Given the description of an element on the screen output the (x, y) to click on. 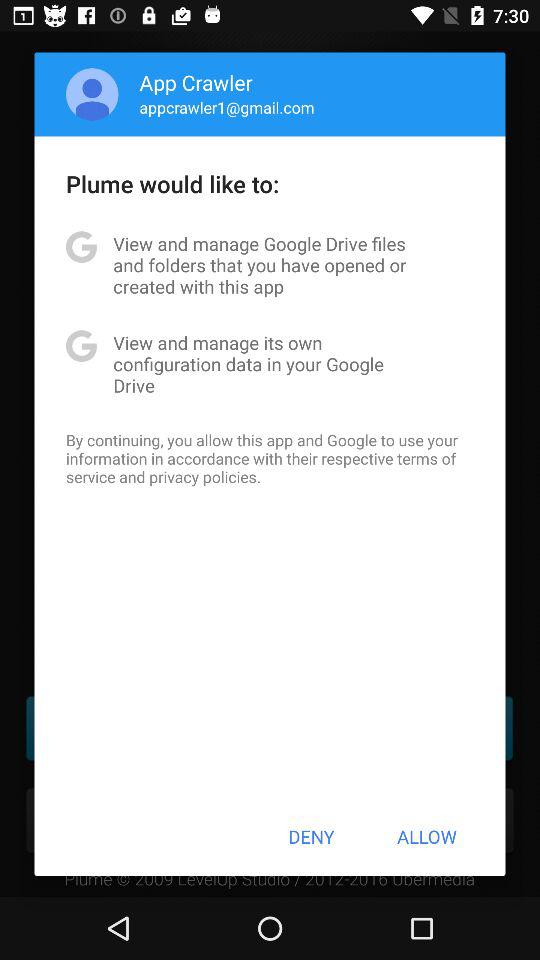
flip to the app crawler icon (195, 82)
